Given the description of an element on the screen output the (x, y) to click on. 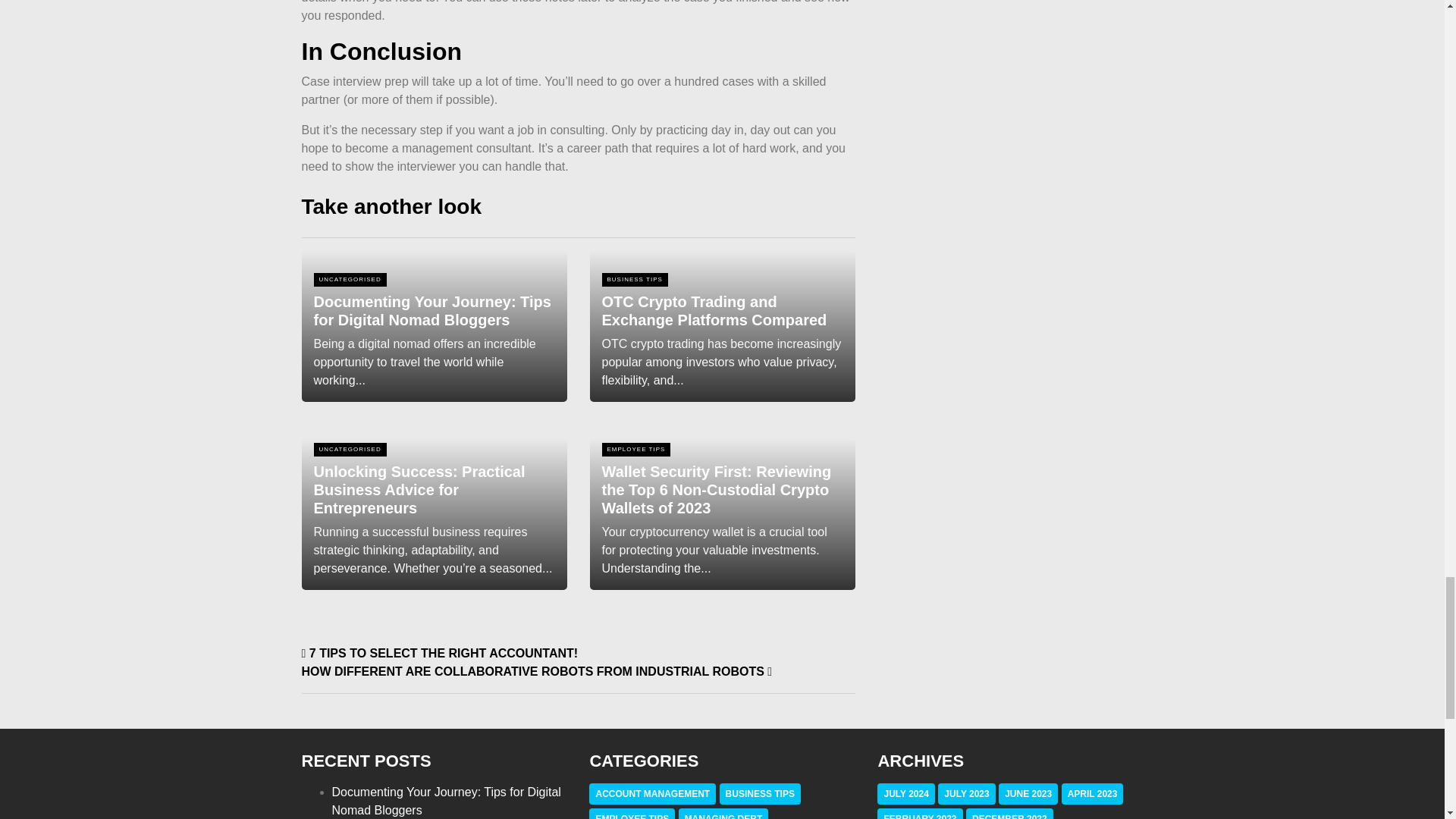
Documenting Your Journey: Tips for Digital Nomad Bloggers (434, 332)
Documenting Your Journey: Tips for Digital Nomad Bloggers (434, 332)
UNCATEGORISED (349, 279)
EMPLOYEE TIPS (631, 816)
ACCOUNT MANAGEMENT (652, 793)
OTC Crypto Trading and Exchange Platforms Compared (722, 332)
BUSINESS TIPS (634, 279)
BUSINESS TIPS (759, 793)
UNCATEGORISED (349, 448)
Documenting Your Journey: Tips for Digital Nomad Bloggers (445, 800)
 7 TIPS TO SELECT THE RIGHT ACCOUNTANT! (439, 653)
